Given the description of an element on the screen output the (x, y) to click on. 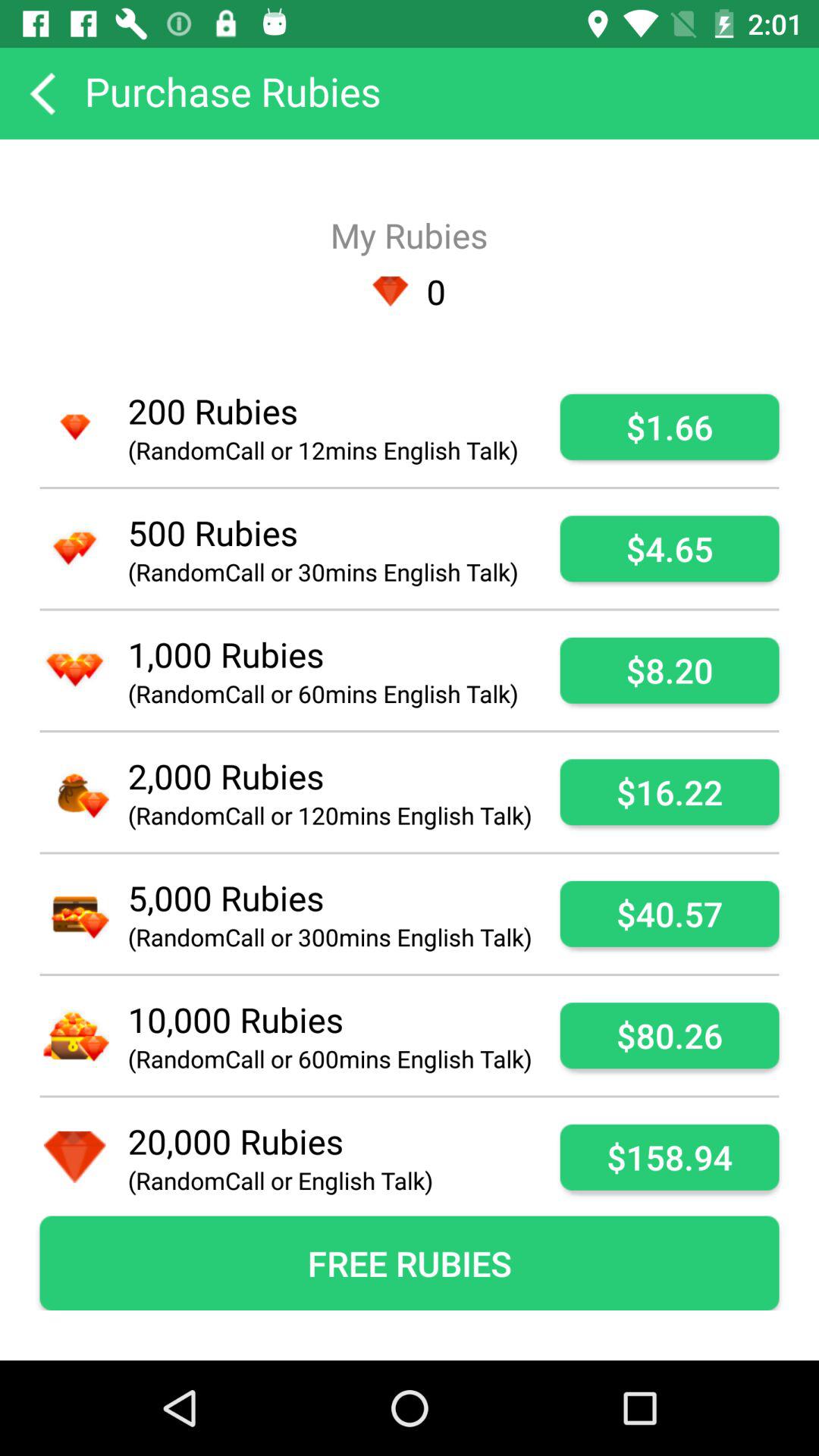
tap the $1.66 item (669, 427)
